Given the description of an element on the screen output the (x, y) to click on. 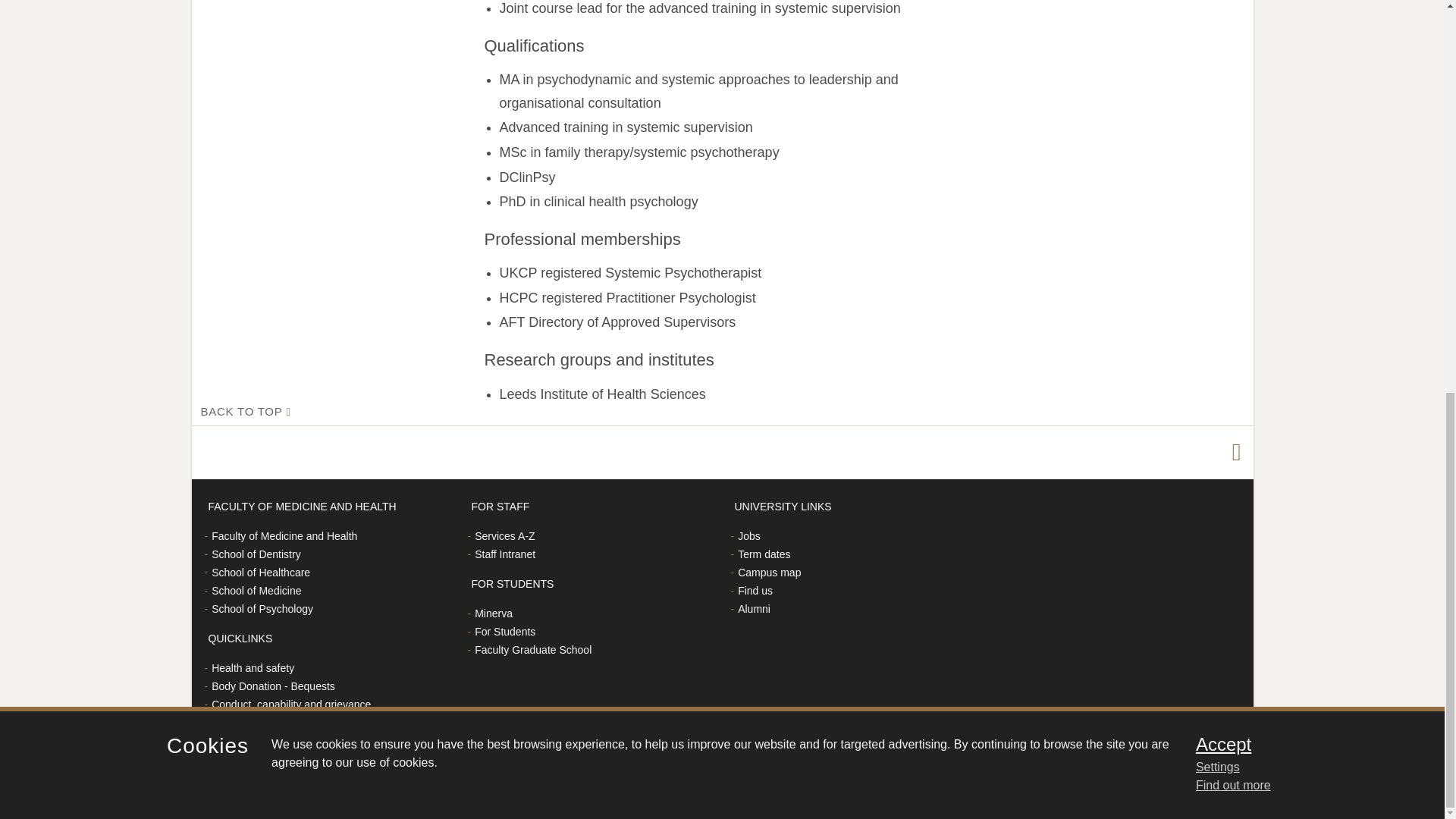
Find out more (1233, 32)
Settings (1300, 14)
